Given the description of an element on the screen output the (x, y) to click on. 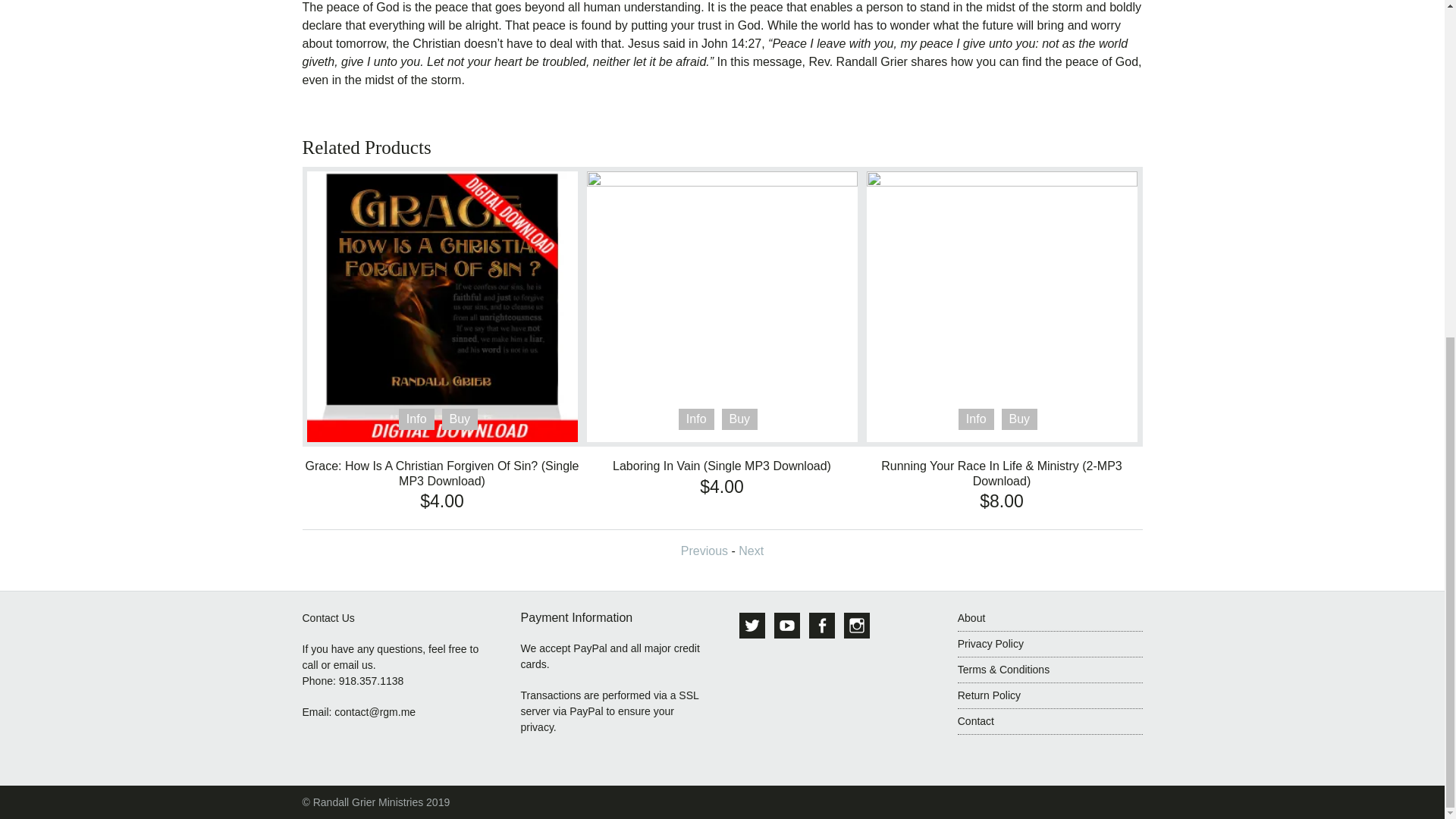
Instagram (856, 625)
Youtube (786, 625)
Twitter (752, 625)
Facebook (821, 625)
